Given the description of an element on the screen output the (x, y) to click on. 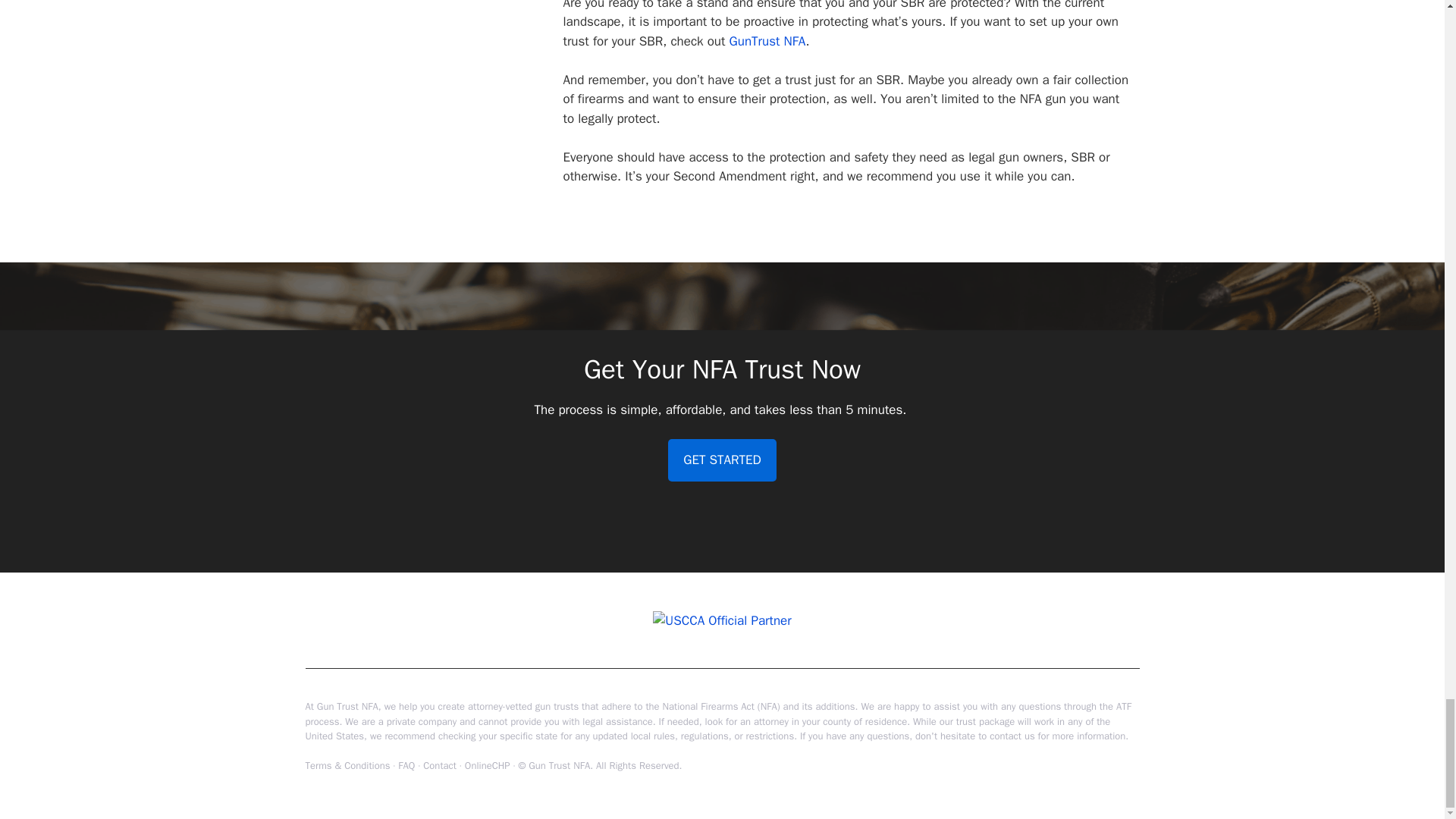
OnlineCHP (487, 765)
FAQ (405, 765)
GunTrust NFA (765, 41)
GET STARTED (722, 459)
Contact (440, 765)
